Given the description of an element on the screen output the (x, y) to click on. 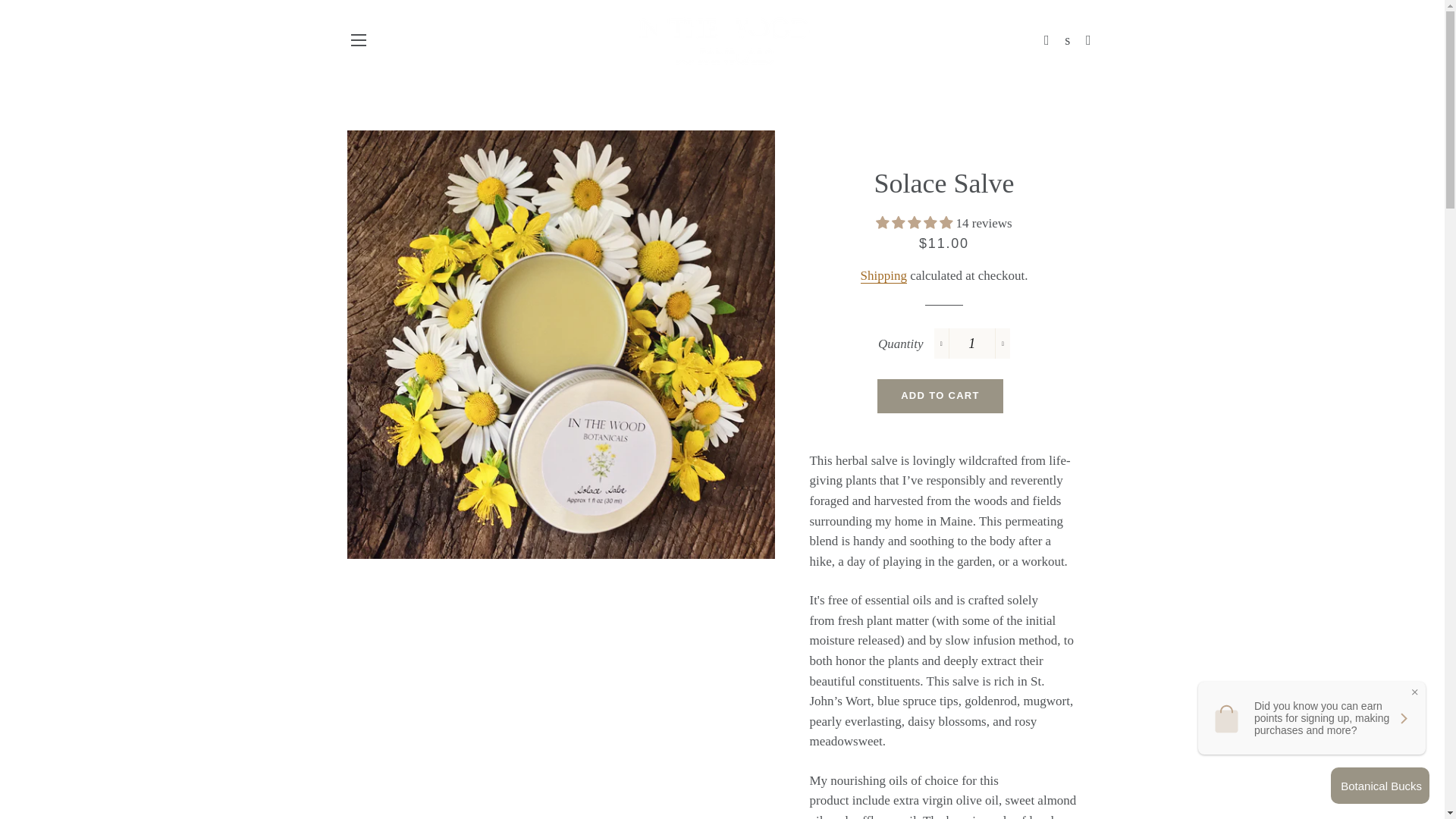
ADD TO CART (940, 395)
LoyaltyLion beacon (1379, 785)
1 (972, 343)
Shipping (882, 275)
SITE NAVIGATION (358, 39)
